Given the description of an element on the screen output the (x, y) to click on. 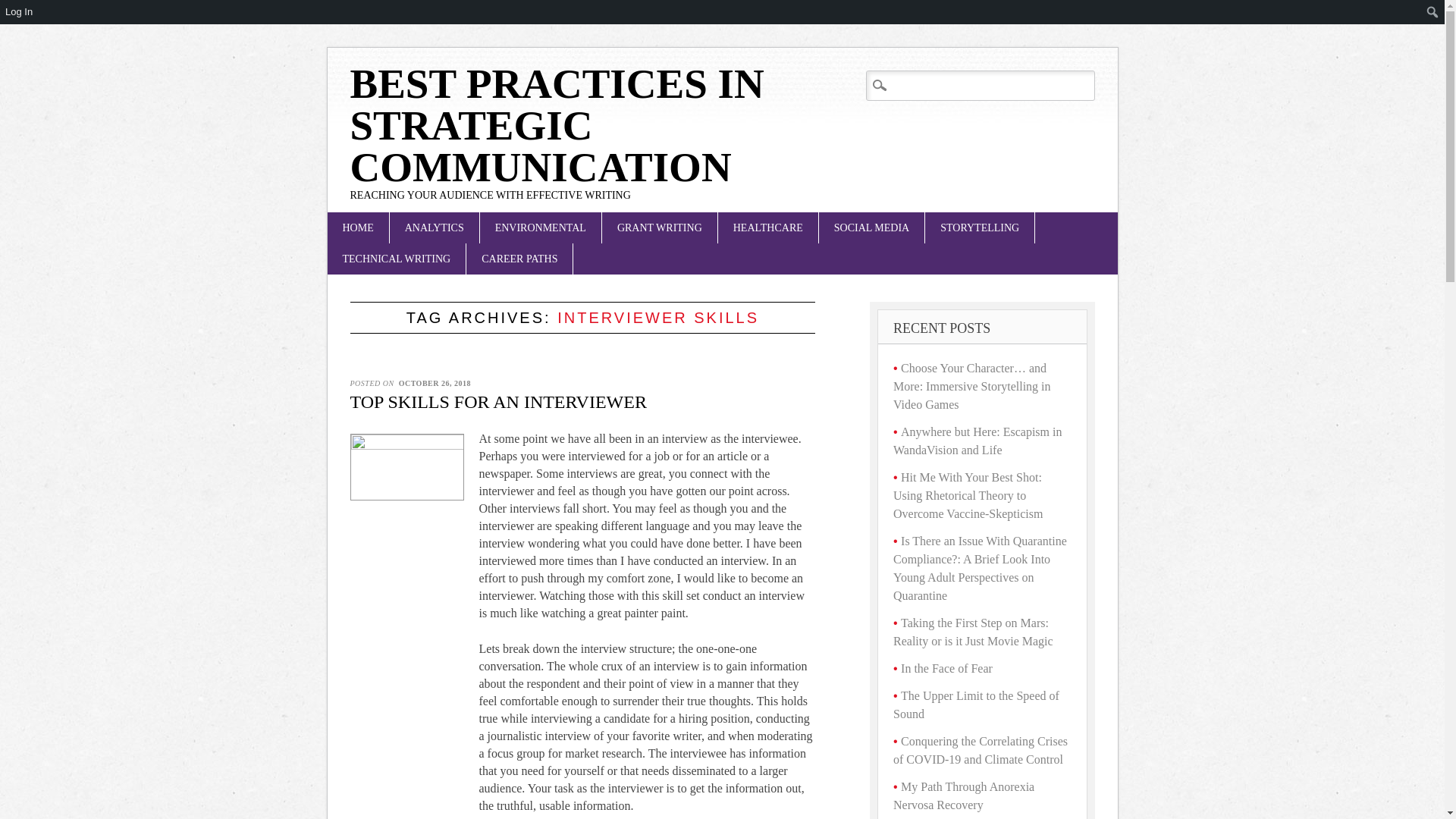
TECHNICAL WRITING (396, 258)
My Path Through Anorexia Nervosa Recovery (963, 795)
TOP SKILLS FOR AN INTERVIEWER (498, 401)
HEALTHCARE (767, 227)
In the Face of Fear (946, 667)
SOCIAL MEDIA (871, 227)
STORYTELLING (978, 227)
Anywhere but Here: Escapism in WandaVision and Life (977, 440)
ANALYTICS (434, 227)
Search (43, 16)
Best Practices in Strategic Communication (557, 125)
